Given the description of an element on the screen output the (x, y) to click on. 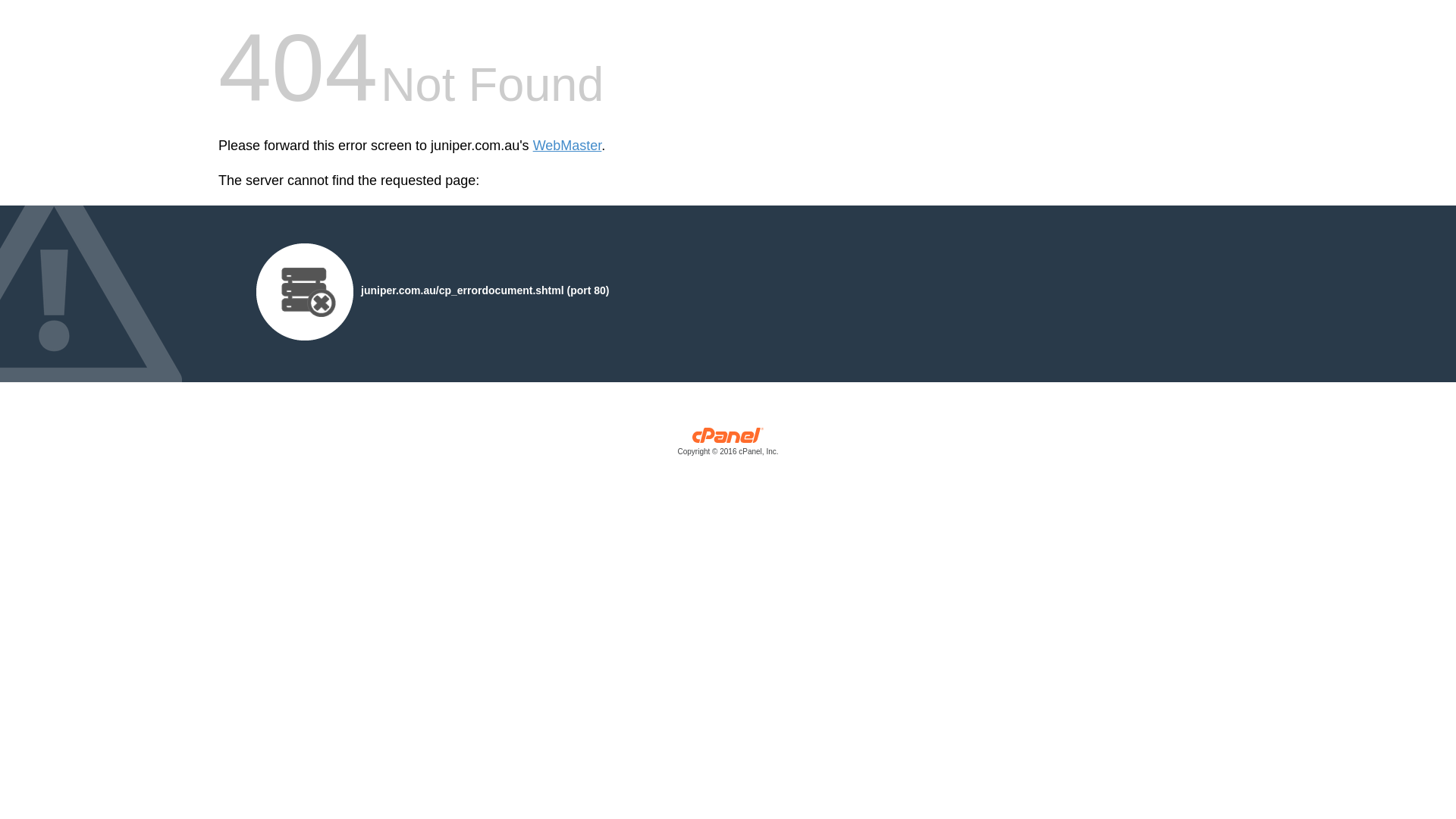
WebMaster Element type: text (567, 145)
